Given the description of an element on the screen output the (x, y) to click on. 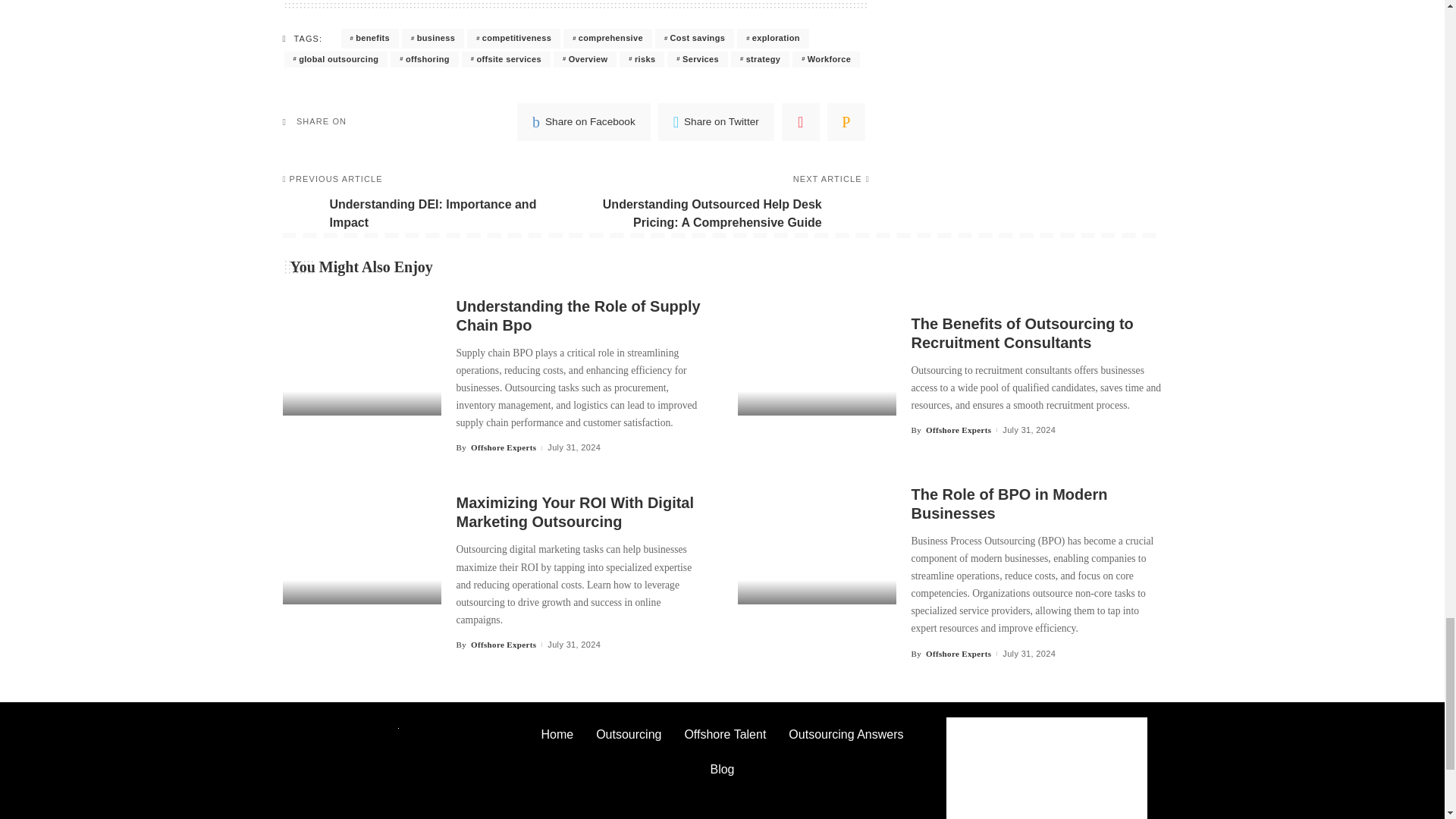
benefits (369, 38)
competitiveness (513, 38)
Cost savings (694, 38)
benefits (369, 38)
comprehensive (607, 38)
global outsourcing (335, 59)
business (432, 38)
offshoring (424, 59)
exploration (772, 38)
